Given the description of an element on the screen output the (x, y) to click on. 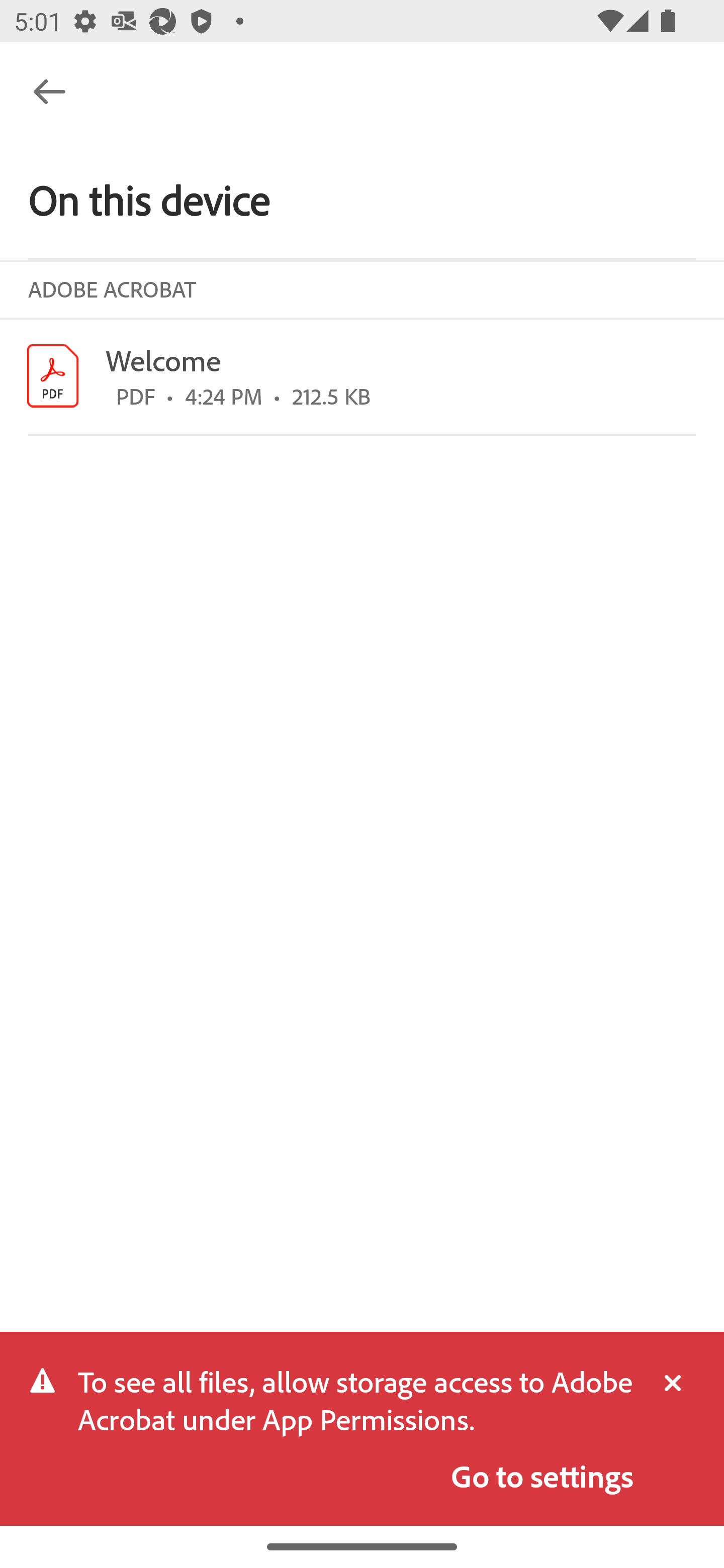
Navigate up (49, 91)
Welcome.pdf Welcome PDF •  4:24 PM •  212.5 KB (362, 376)
Close the indicator (663, 1383)
Go to settings (542, 1475)
